Given the description of an element on the screen output the (x, y) to click on. 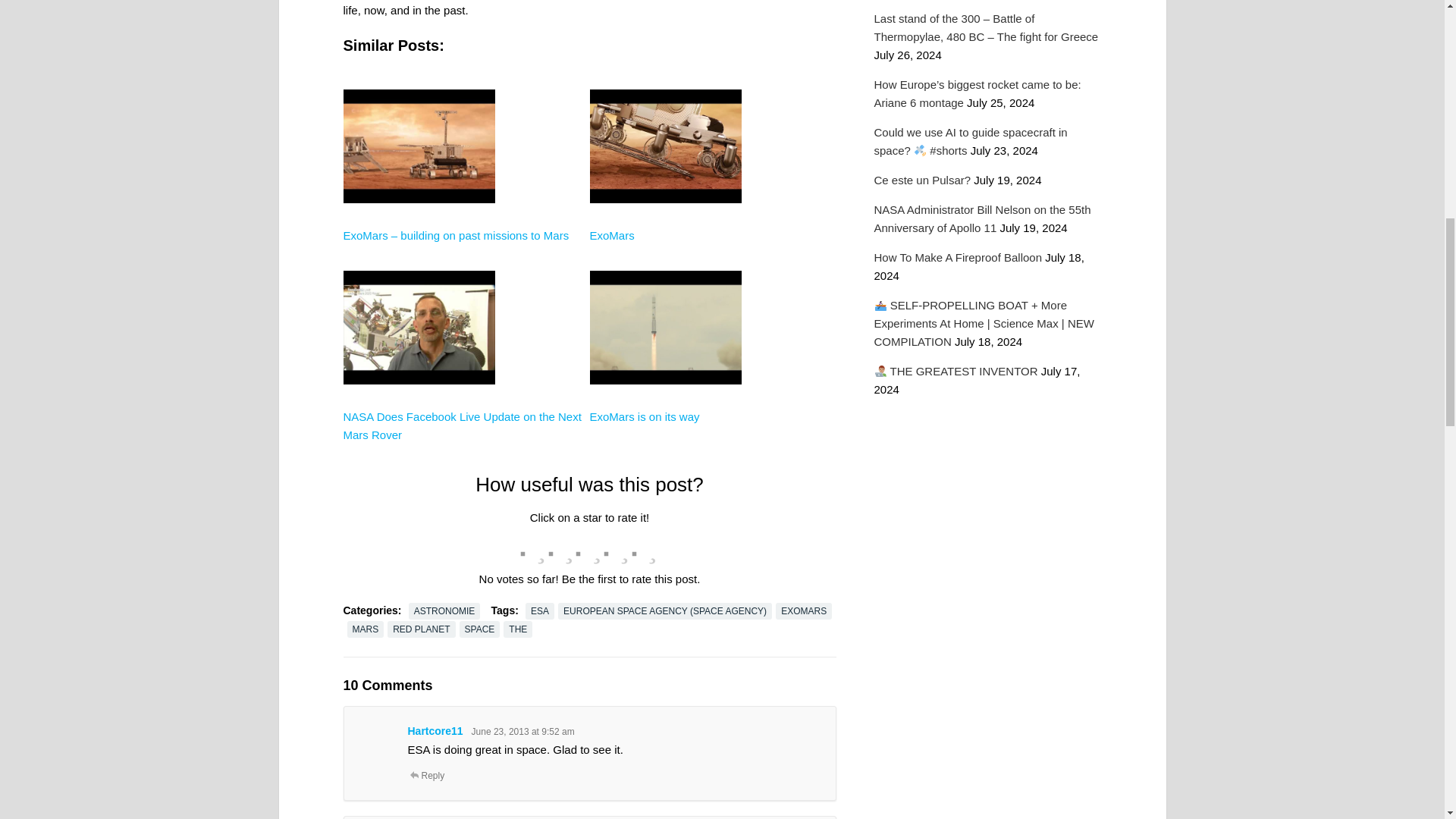
ESA (539, 610)
NASA Does Facebook Live Update on the Next Mars Rover (461, 425)
ExoMars (611, 235)
ASTRONOMIE (444, 610)
ExoMars (665, 439)
ExoMars (611, 235)
NASA Does Facebook Live Update on the Next Mars Rover (461, 425)
ExoMars is on its way (644, 416)
ExoMars (418, 258)
ExoMars is on its way (644, 416)
ExoMars (665, 258)
NASA (418, 439)
EXOMARS (803, 610)
